Given the description of an element on the screen output the (x, y) to click on. 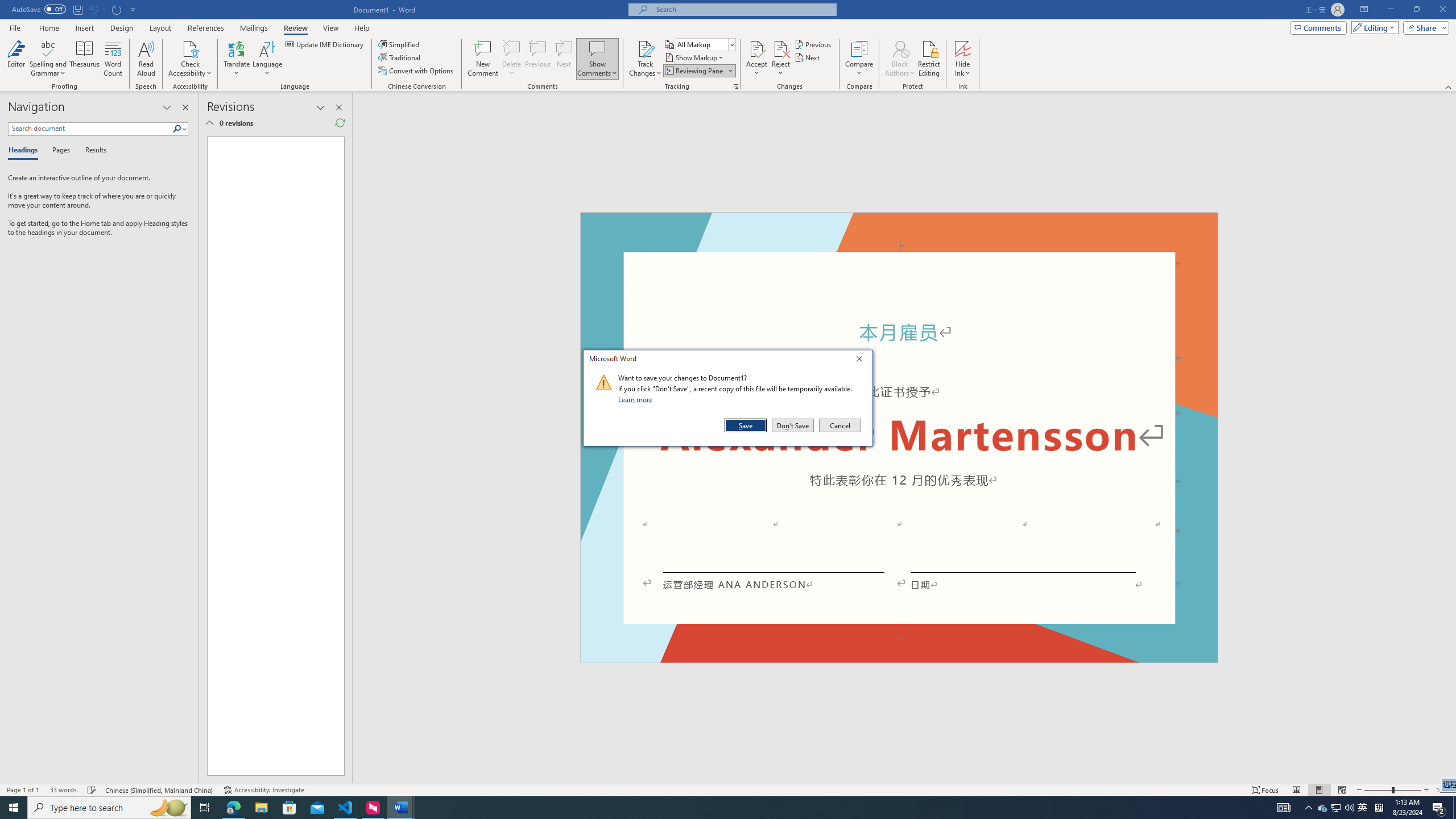
Cancel (839, 425)
Learn more (636, 399)
Check Accessibility (189, 48)
File Explorer (261, 807)
Translate (236, 58)
Word - 2 running windows (400, 807)
Simplified (400, 44)
